Given the description of an element on the screen output the (x, y) to click on. 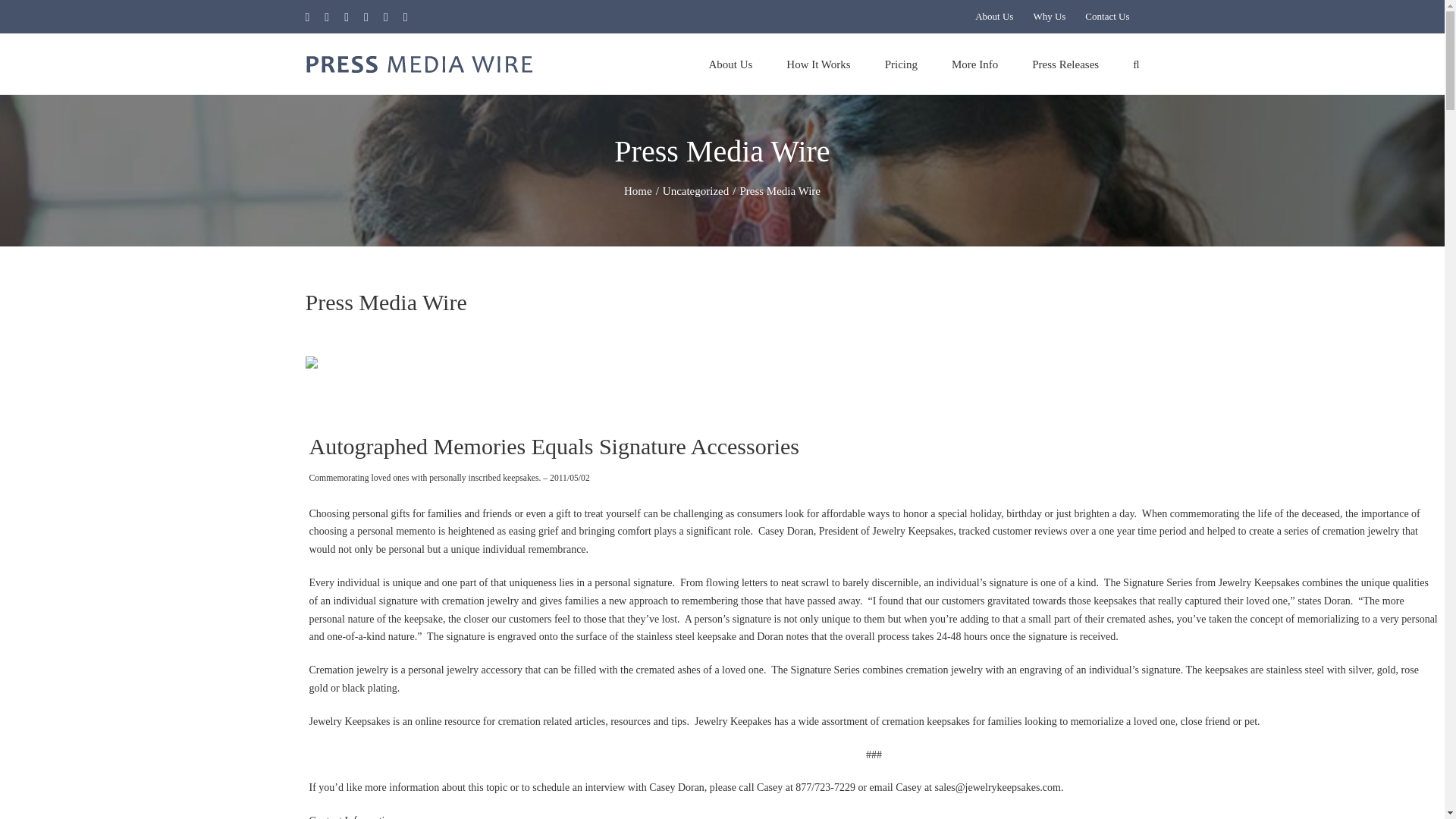
Press Releases (1065, 64)
Contact Us (1106, 16)
Why Us (1049, 16)
How It Works (818, 64)
About Us (994, 16)
